Given the description of an element on the screen output the (x, y) to click on. 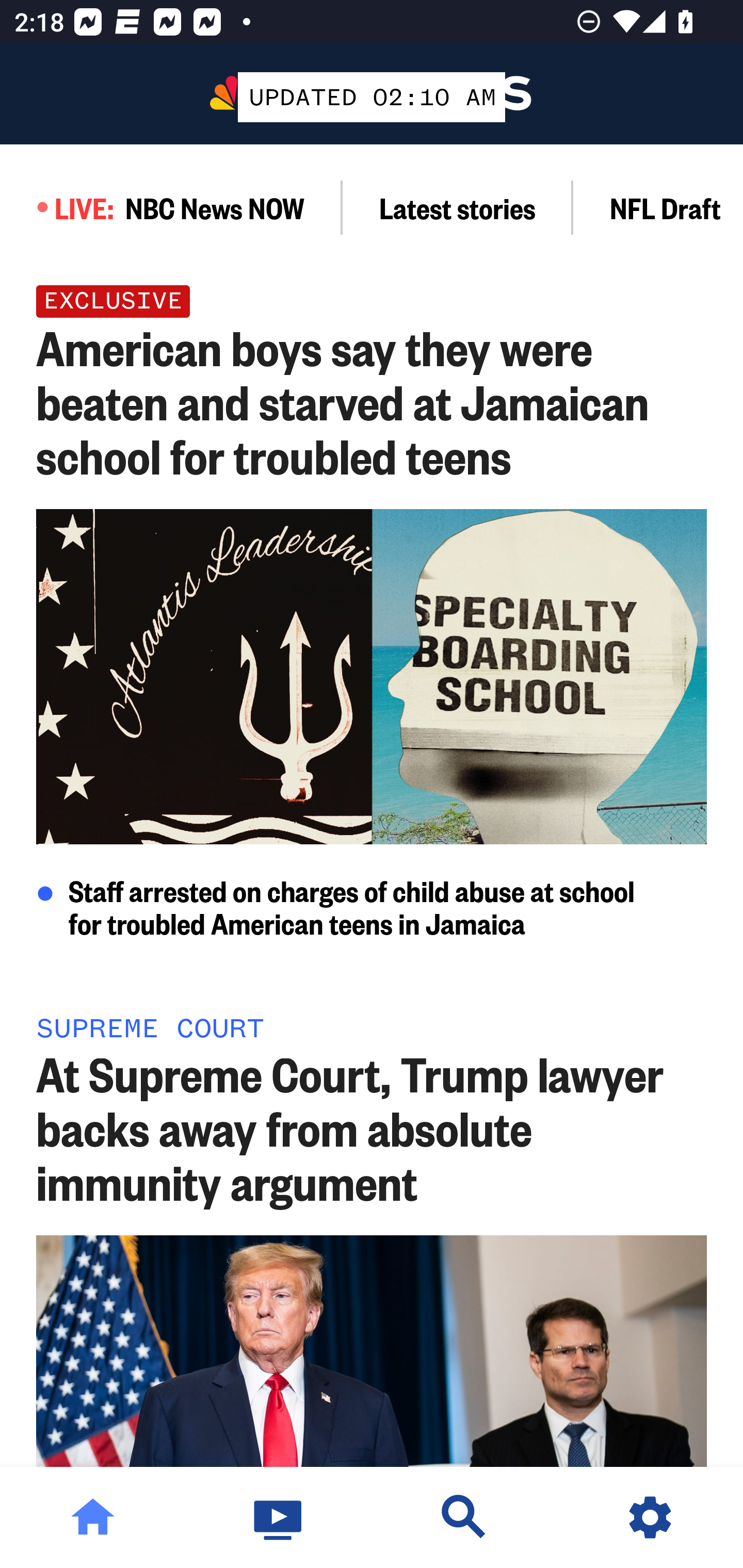
LIVE:  NBC News NOW (171, 207)
Latest stories Section,Latest stories (457, 207)
NFL Draft (658, 207)
Watch (278, 1517)
Discover (464, 1517)
Settings (650, 1517)
